Given the description of an element on the screen output the (x, y) to click on. 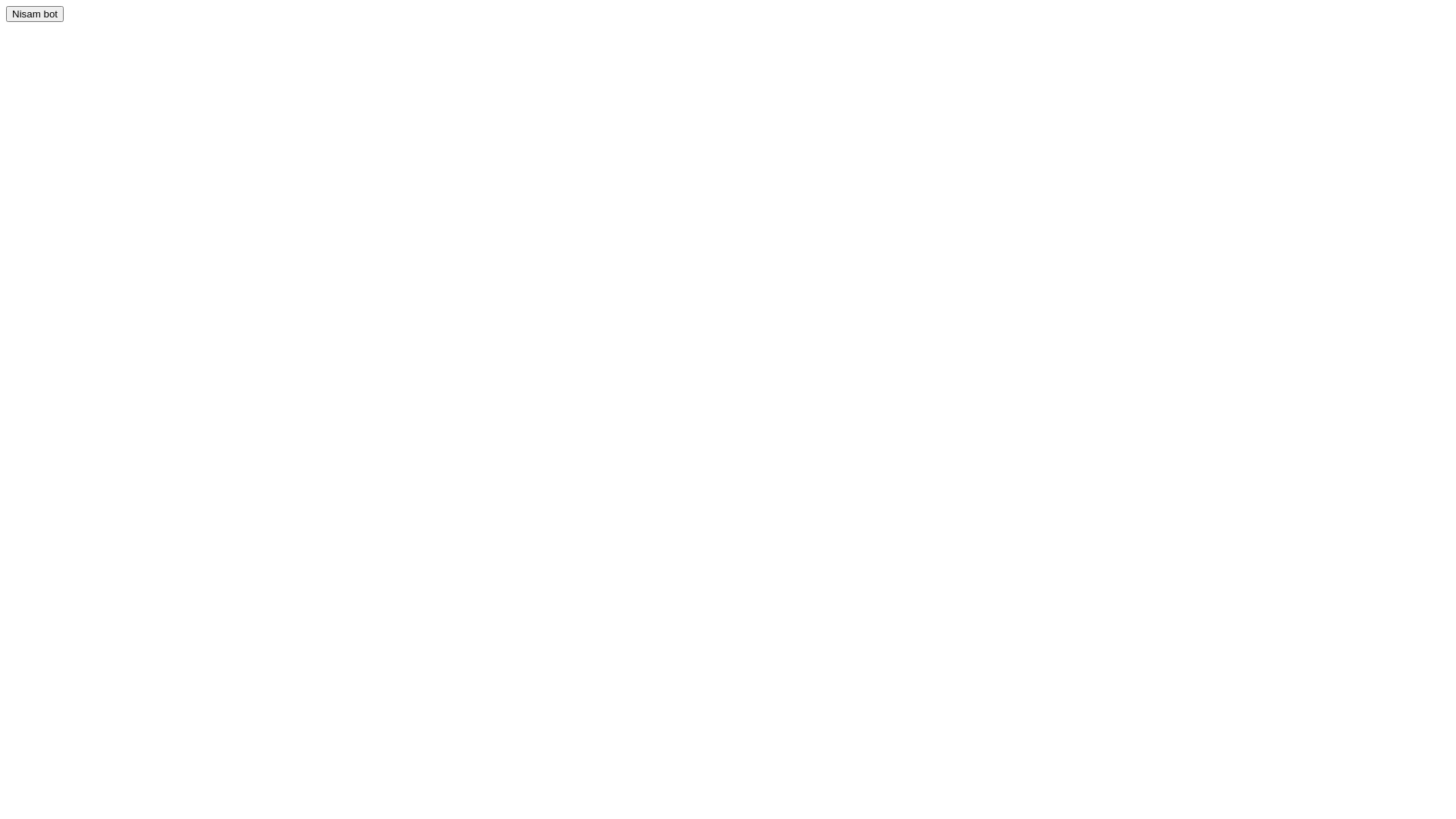
Nisam bot Element type: text (34, 13)
